Given the description of an element on the screen output the (x, y) to click on. 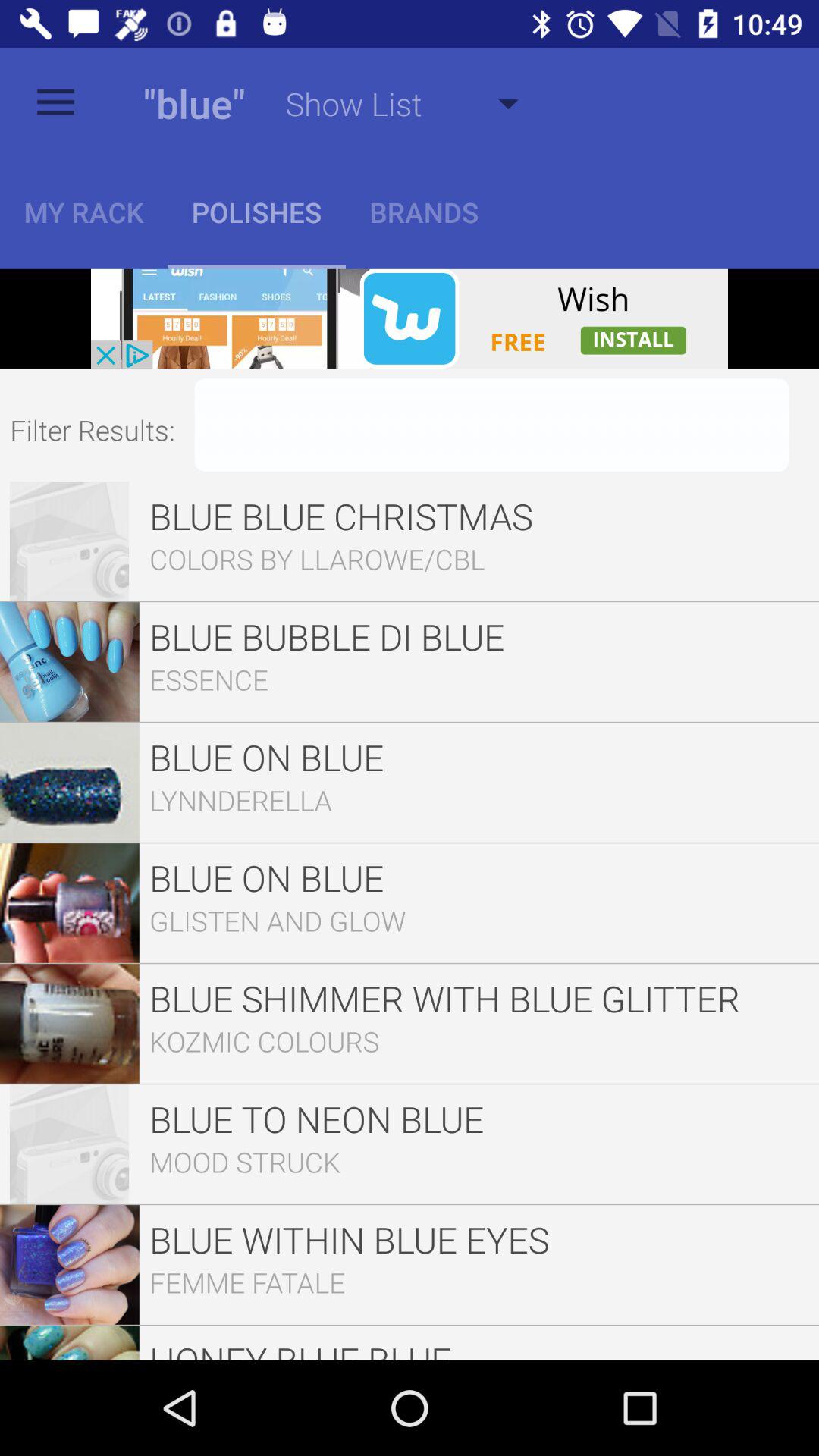
add filter to results (491, 424)
